Given the description of an element on the screen output the (x, y) to click on. 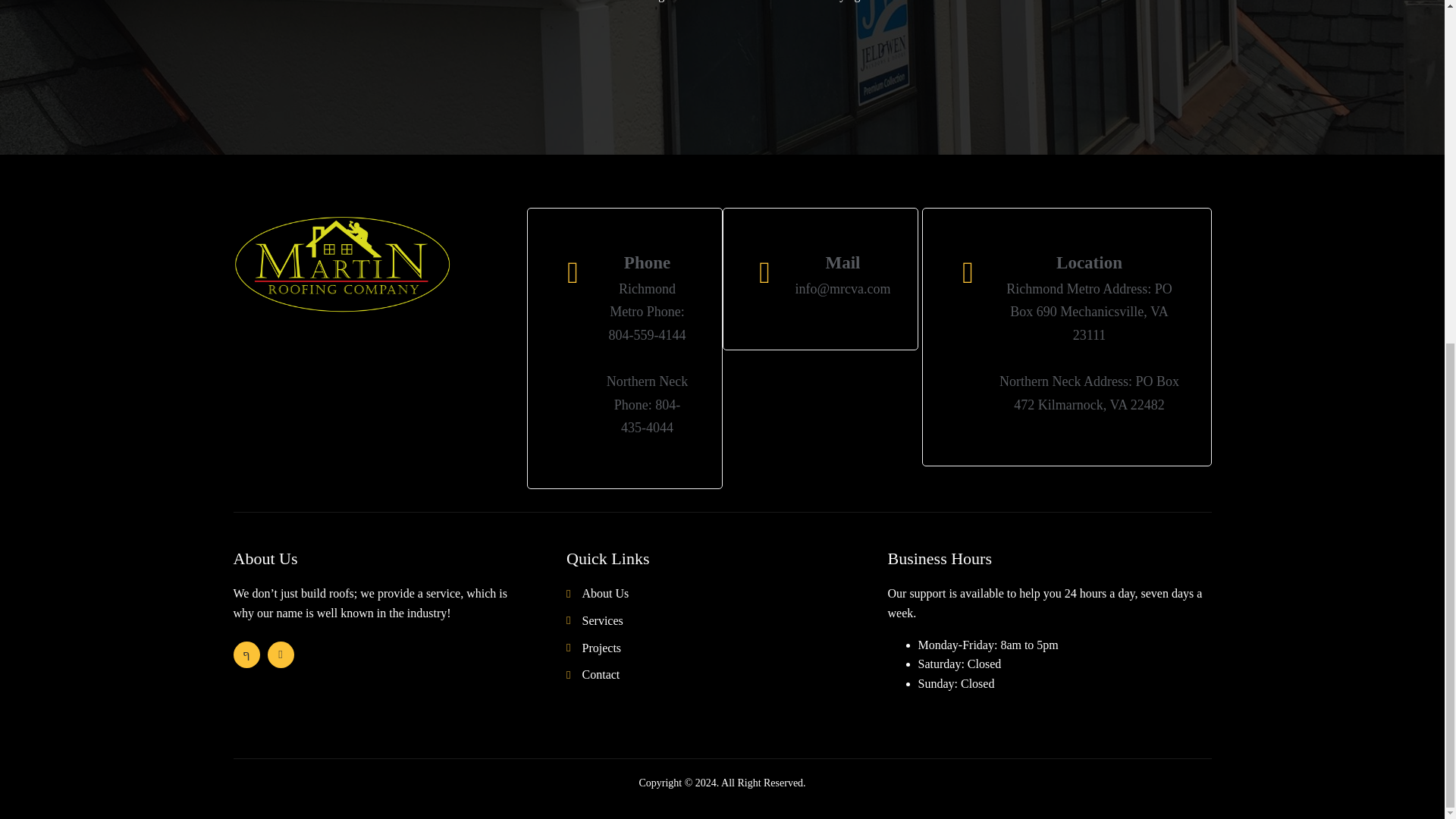
About Us (726, 593)
Projects (726, 648)
Contact (726, 674)
Services (726, 620)
